Given the description of an element on the screen output the (x, y) to click on. 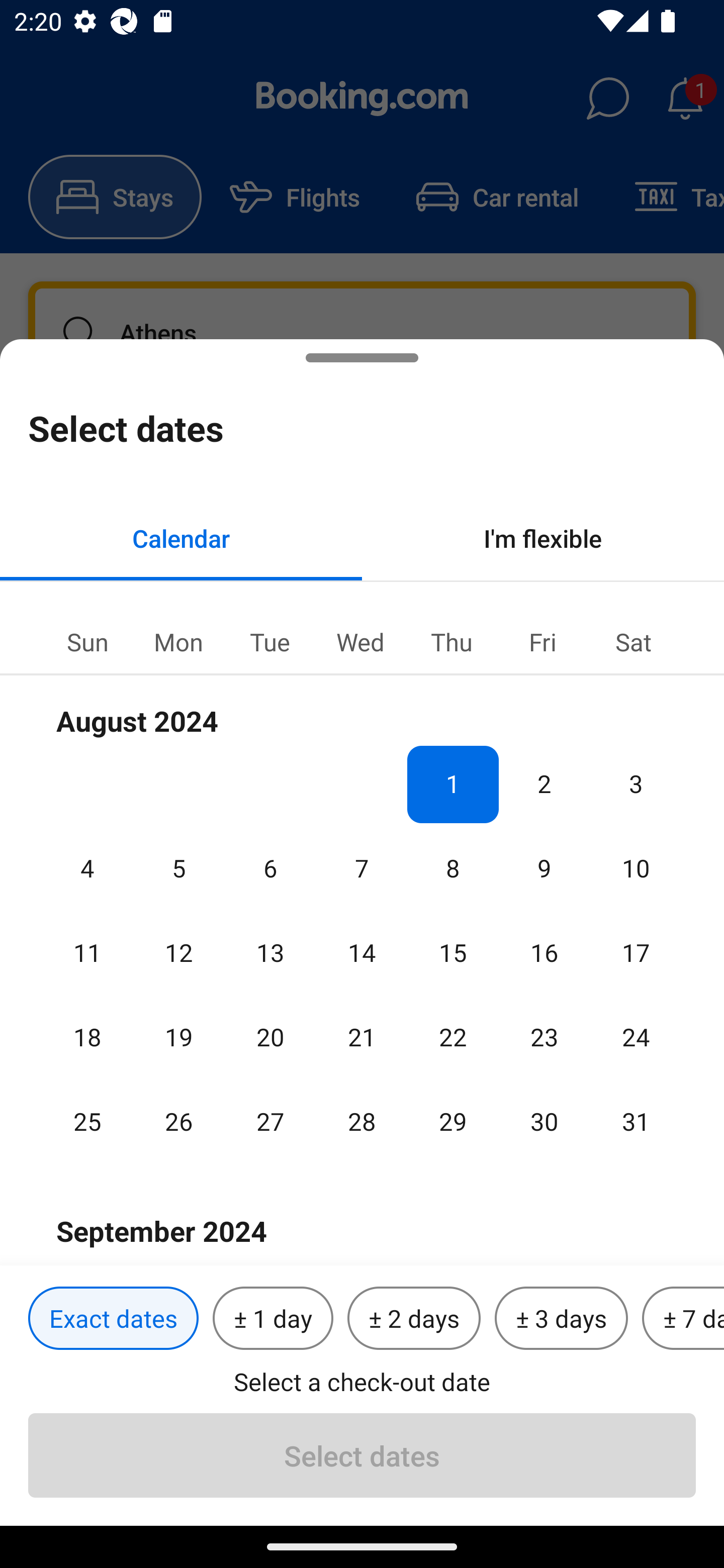
I'm flexible (543, 537)
Exact dates (113, 1318)
± 1 day (272, 1318)
± 2 days (413, 1318)
± 3 days (560, 1318)
± 7 days (683, 1318)
Select dates (361, 1454)
